Given the description of an element on the screen output the (x, y) to click on. 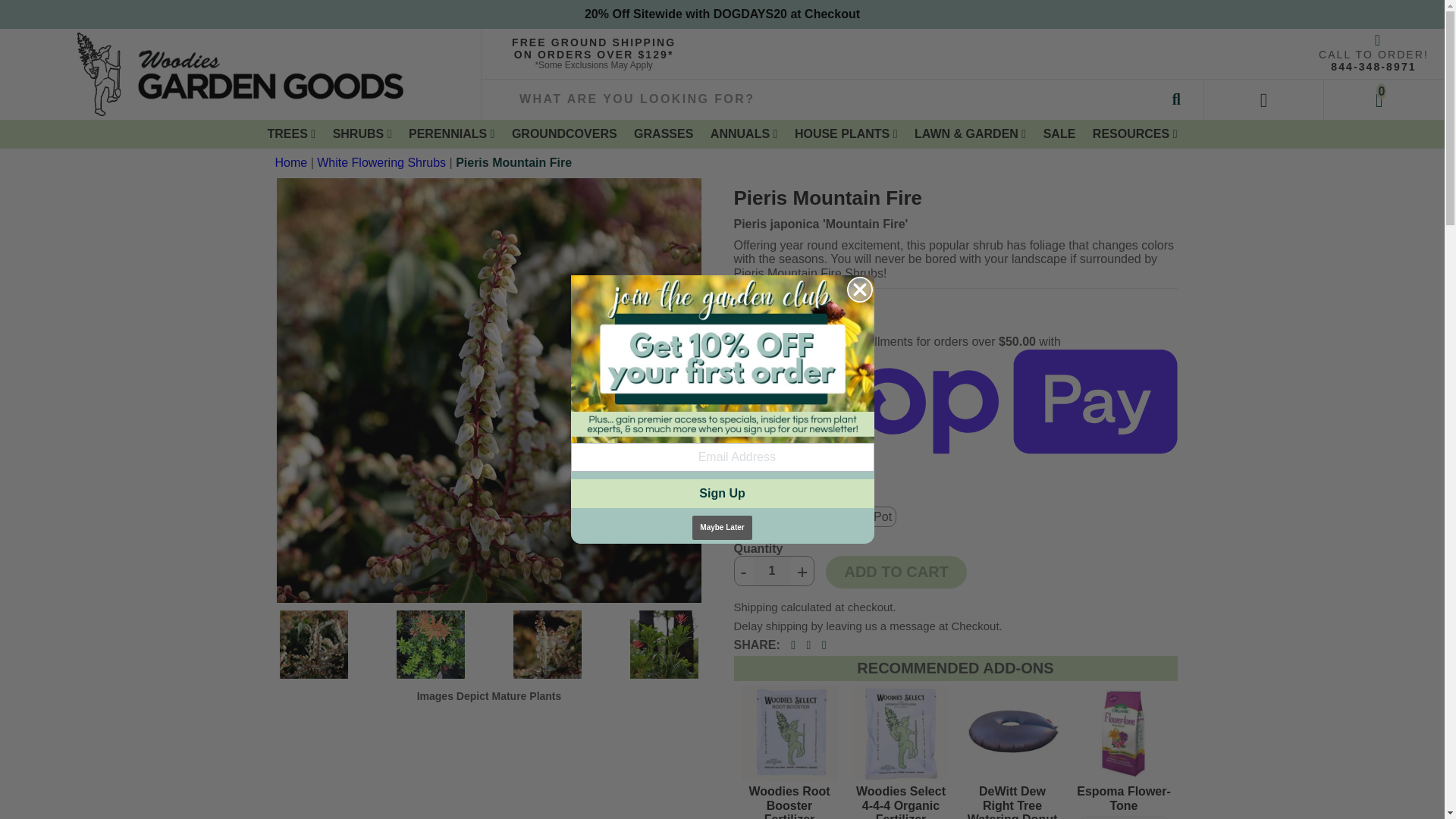
TREES (290, 133)
Close dialog 2 (858, 289)
844-348-8971 (1373, 66)
1 (771, 570)
